Given the description of an element on the screen output the (x, y) to click on. 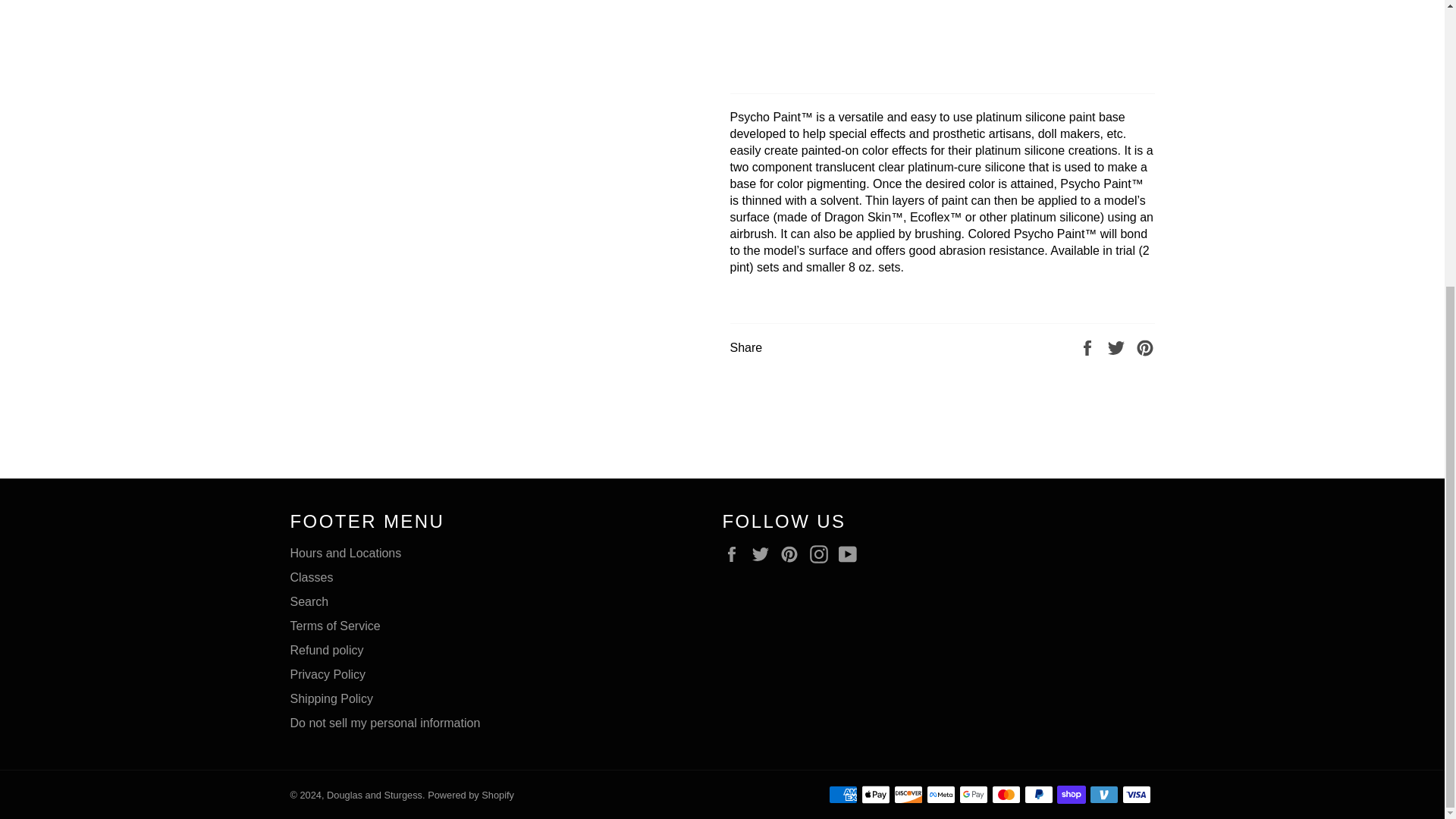
Douglas and Sturgess on Facebook (735, 554)
Douglas and Sturgess on YouTube (851, 554)
Douglas and Sturgess on Twitter (764, 554)
Douglas and Sturgess on Pinterest (793, 554)
Share on Facebook (1088, 347)
Douglas and Sturgess on Instagram (822, 554)
Tweet on Twitter (1117, 347)
Pin on Pinterest (1144, 347)
